Given the description of an element on the screen output the (x, y) to click on. 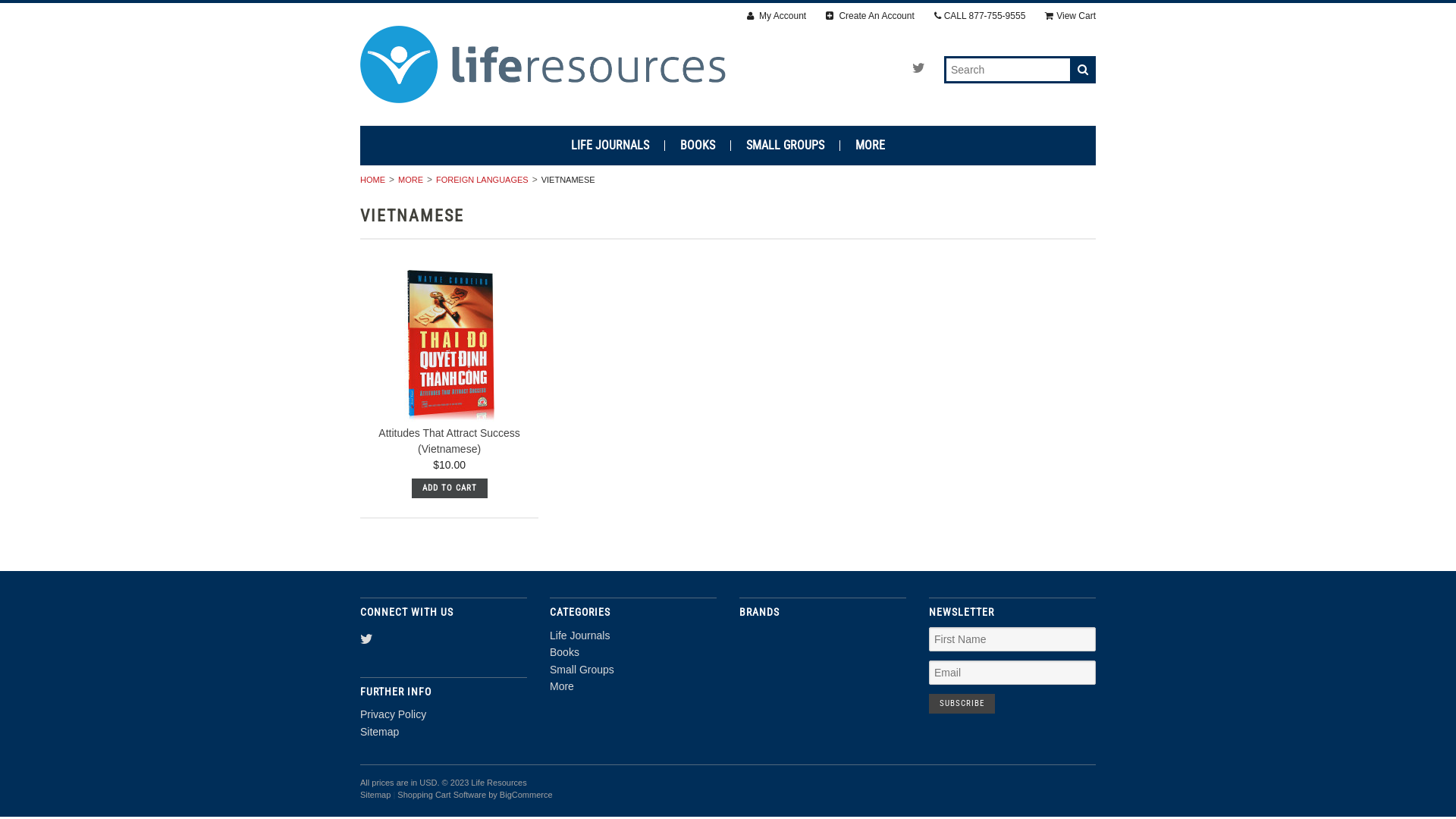
FOREIGN LANGUAGES Element type: text (480, 179)
ADD TO CART Element type: text (449, 488)
Small Groups Element type: text (581, 669)
Privacy Policy Element type: text (393, 714)
Twitter Element type: hover (918, 68)
BOOKS Element type: text (698, 145)
Twitter Element type: hover (366, 639)
More Element type: text (561, 686)
Compare Selected Element type: text (65, 13)
Sitemap Element type: text (379, 730)
View Cart Element type: text (1069, 16)
MORE Element type: text (870, 145)
Life Journals Element type: text (579, 635)
CALL 877-755-9555 Element type: text (980, 16)
Attitudes That Attract Success (Vietnamese) Element type: text (449, 440)
My Account Element type: text (776, 16)
Books Element type: text (564, 652)
Shopping Cart Software Element type: text (441, 794)
Subscribe Element type: text (961, 703)
Create An Account Element type: text (869, 16)
SMALL GROUPS Element type: text (785, 145)
Sitemap Element type: text (375, 794)
MORE Element type: text (408, 179)
LIFE JOURNALS Element type: text (610, 145)
HOME Element type: text (372, 179)
